Given the description of an element on the screen output the (x, y) to click on. 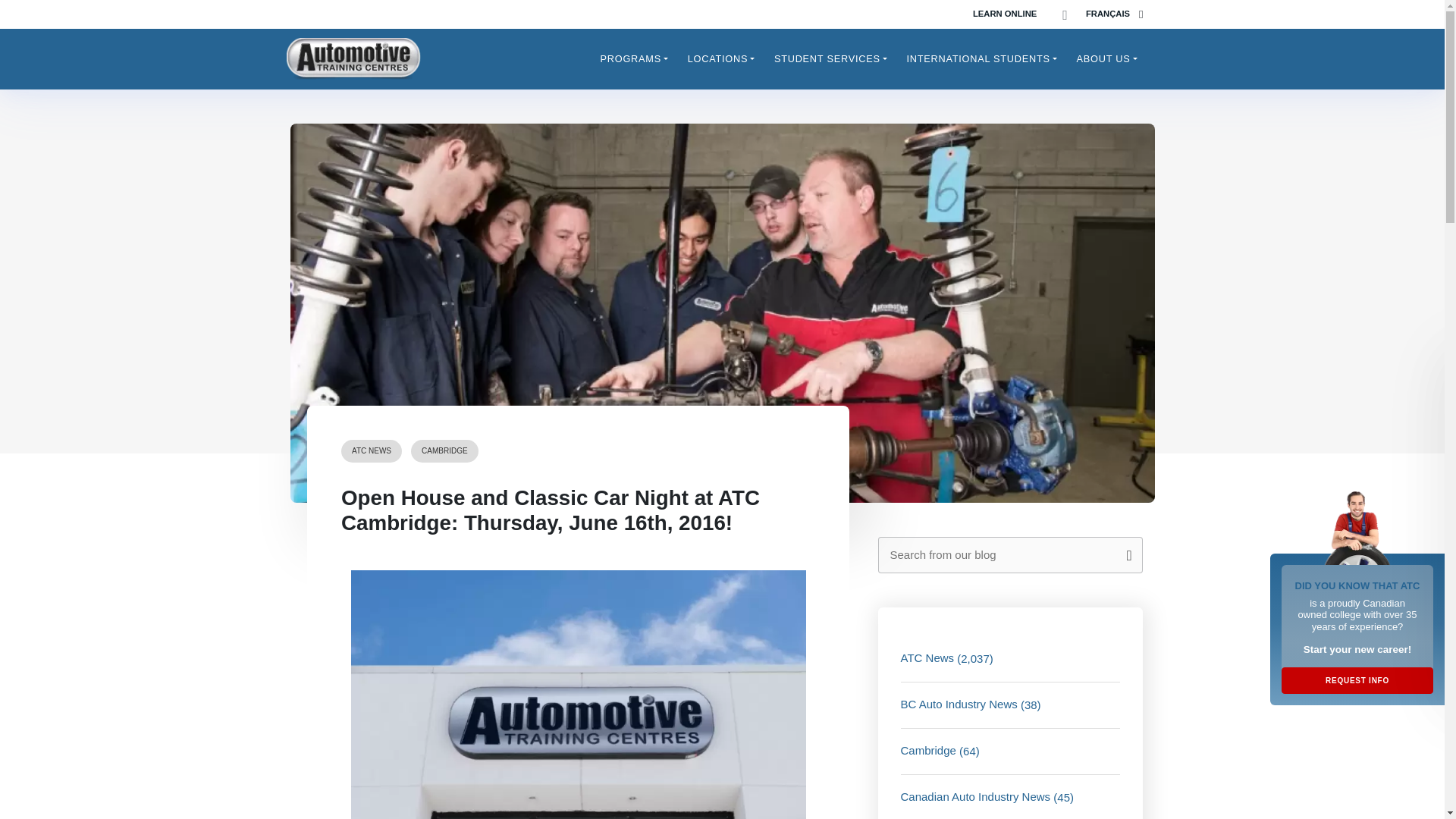
Programs (634, 58)
Learn Online (1004, 13)
LEARN ONLINE (1004, 13)
PROGRAMS (634, 58)
